Given the description of an element on the screen output the (x, y) to click on. 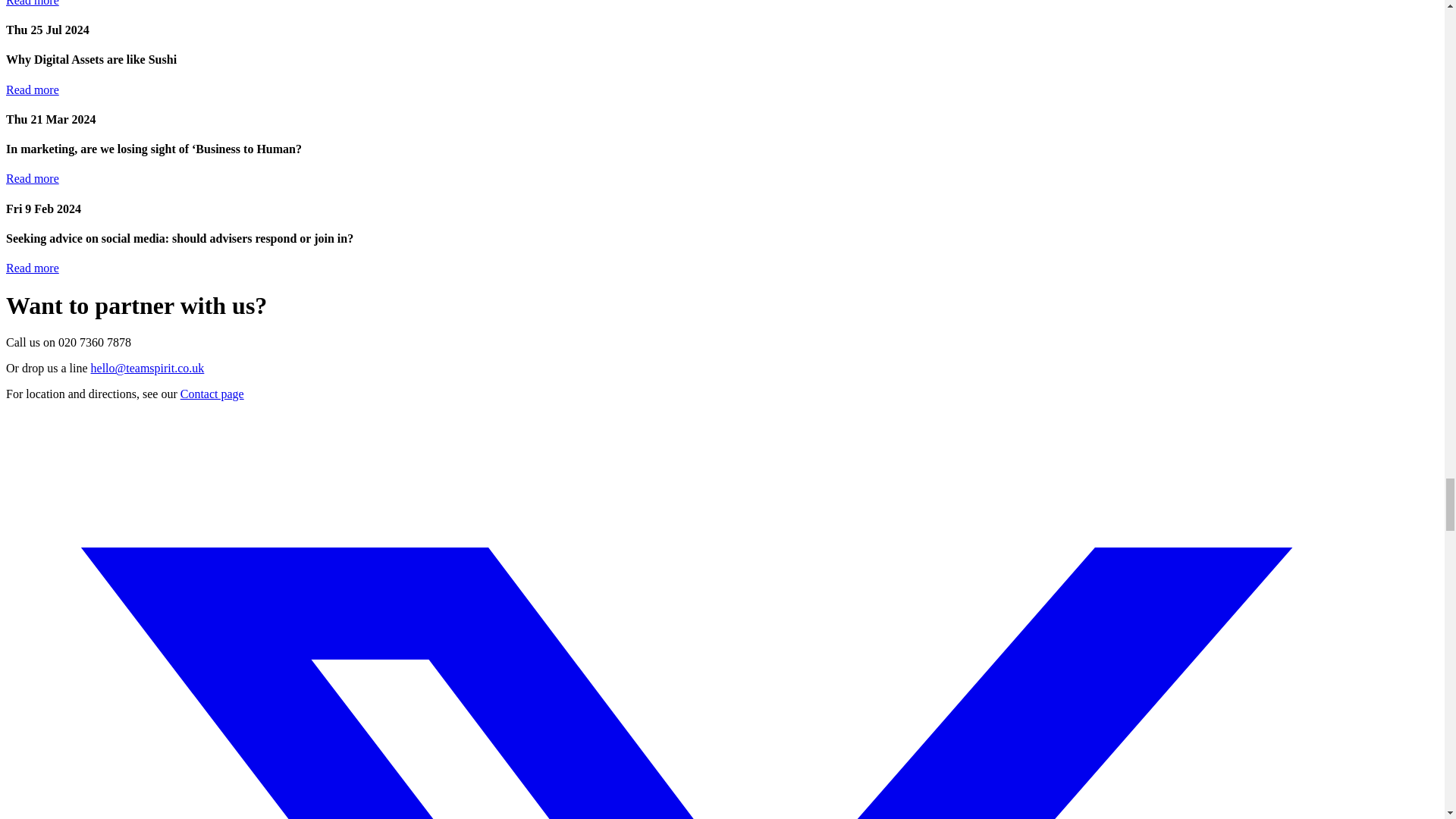
Read more (32, 3)
Contact page (212, 393)
Read more (32, 267)
Read more (32, 178)
Read more (32, 89)
